Given the description of an element on the screen output the (x, y) to click on. 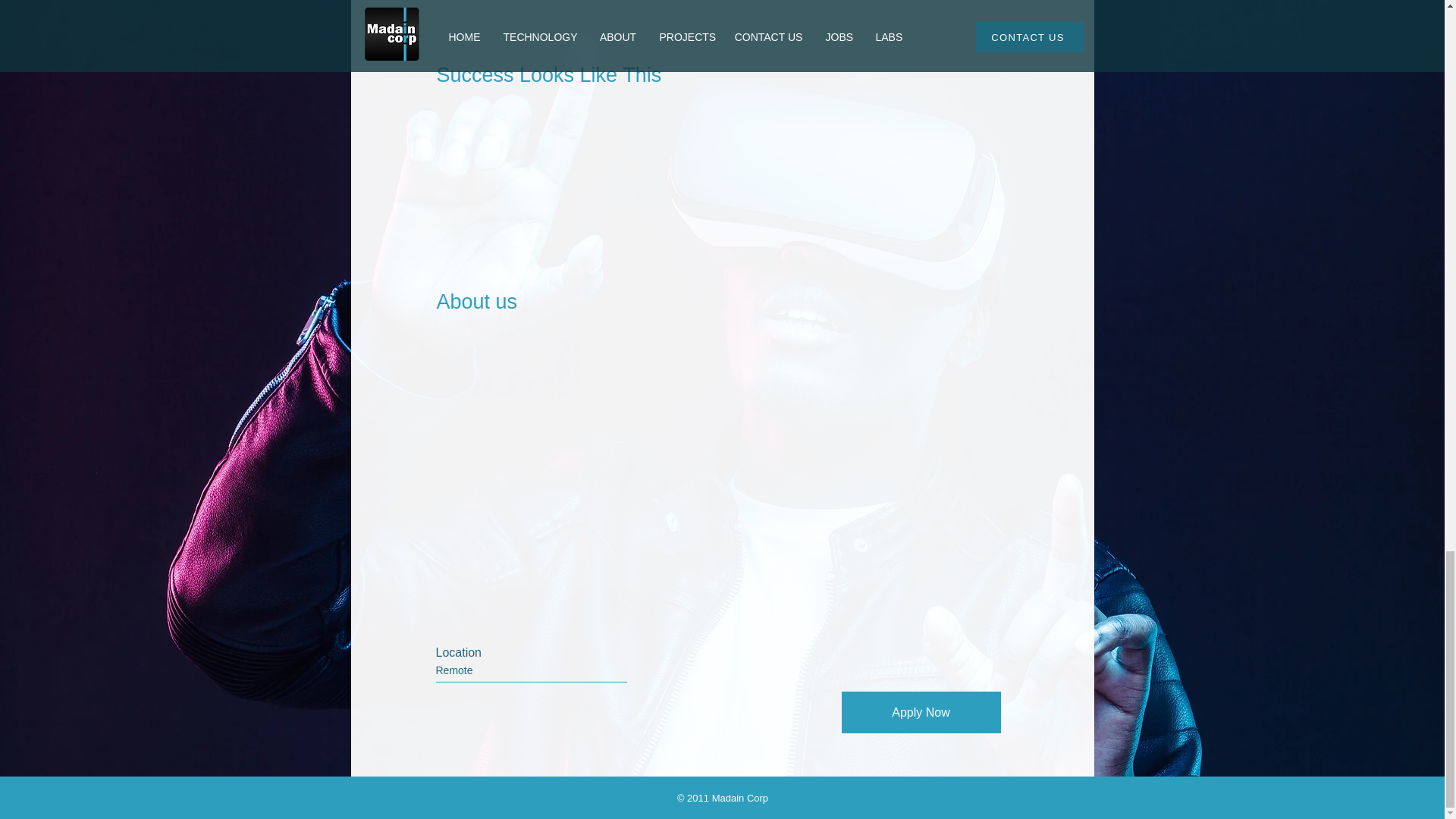
Apply Now (921, 712)
